Given the description of an element on the screen output the (x, y) to click on. 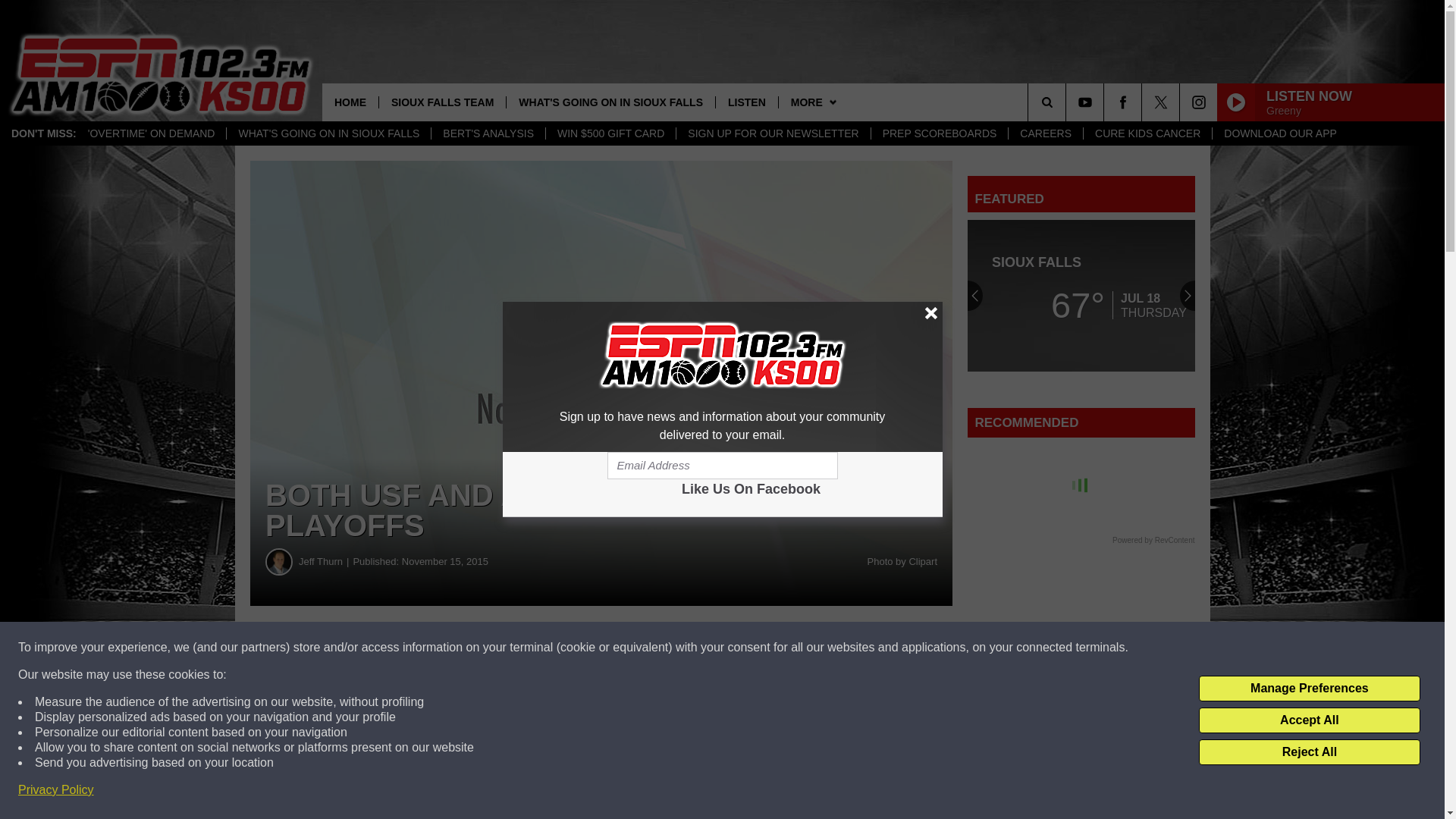
Sioux Falls Weather (1081, 295)
Privacy Policy (55, 789)
BERT'S ANALYSIS (487, 133)
Manage Preferences (1309, 688)
Reject All (1309, 751)
WHAT'S GOING ON IN SIOUX FALLS (609, 102)
CAREERS (1045, 133)
SIGN UP FOR OUR NEWSLETTER (772, 133)
'OVERTIME' ON DEMAND (152, 133)
DOWNLOAD OUR APP (1279, 133)
Accept All (1309, 720)
SIOUX FALLS TEAM (441, 102)
CURE KIDS CANCER (1147, 133)
Share on Twitter (741, 647)
Share on Facebook (460, 647)
